Given the description of an element on the screen output the (x, y) to click on. 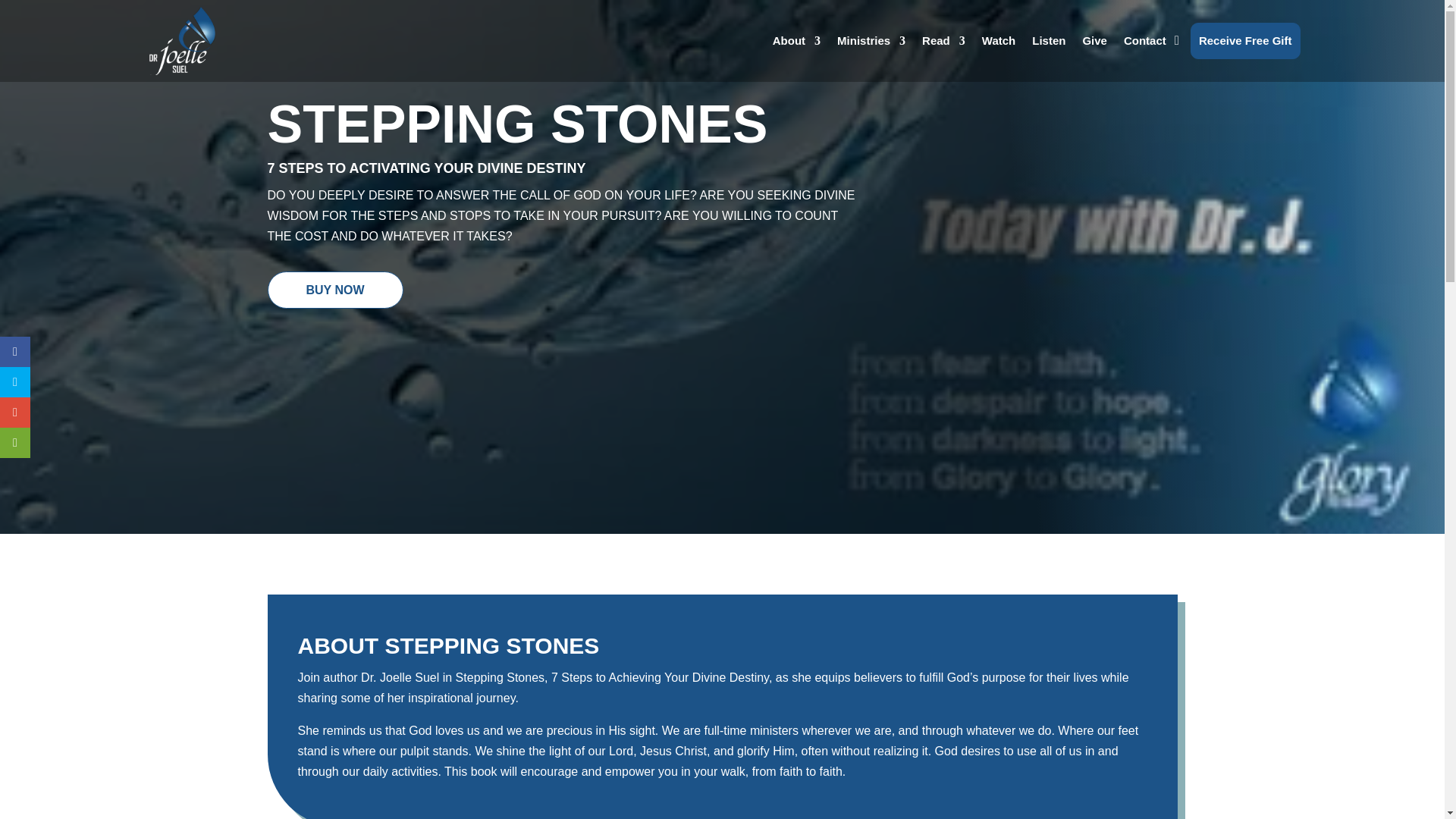
Receive Free Gift (1245, 40)
BUY NOW (334, 289)
Ministries (871, 40)
